Given the description of an element on the screen output the (x, y) to click on. 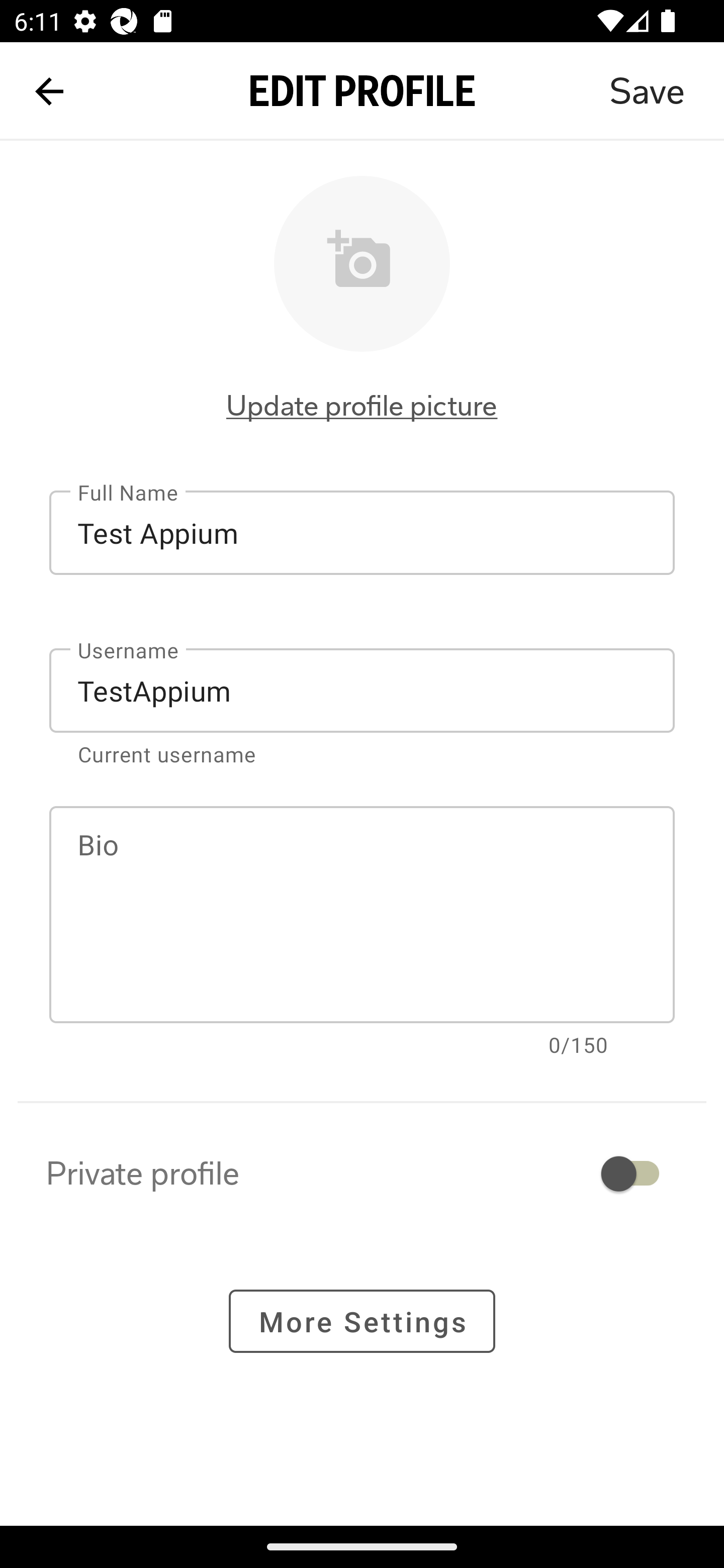
Back (49, 91)
Save (646, 91)
Update profile picture (361, 405)
Test Appium (361, 532)
TestAppium (361, 689)
Bio (361, 914)
Private profile (361, 1173)
More Settings (361, 1321)
